Given the description of an element on the screen output the (x, y) to click on. 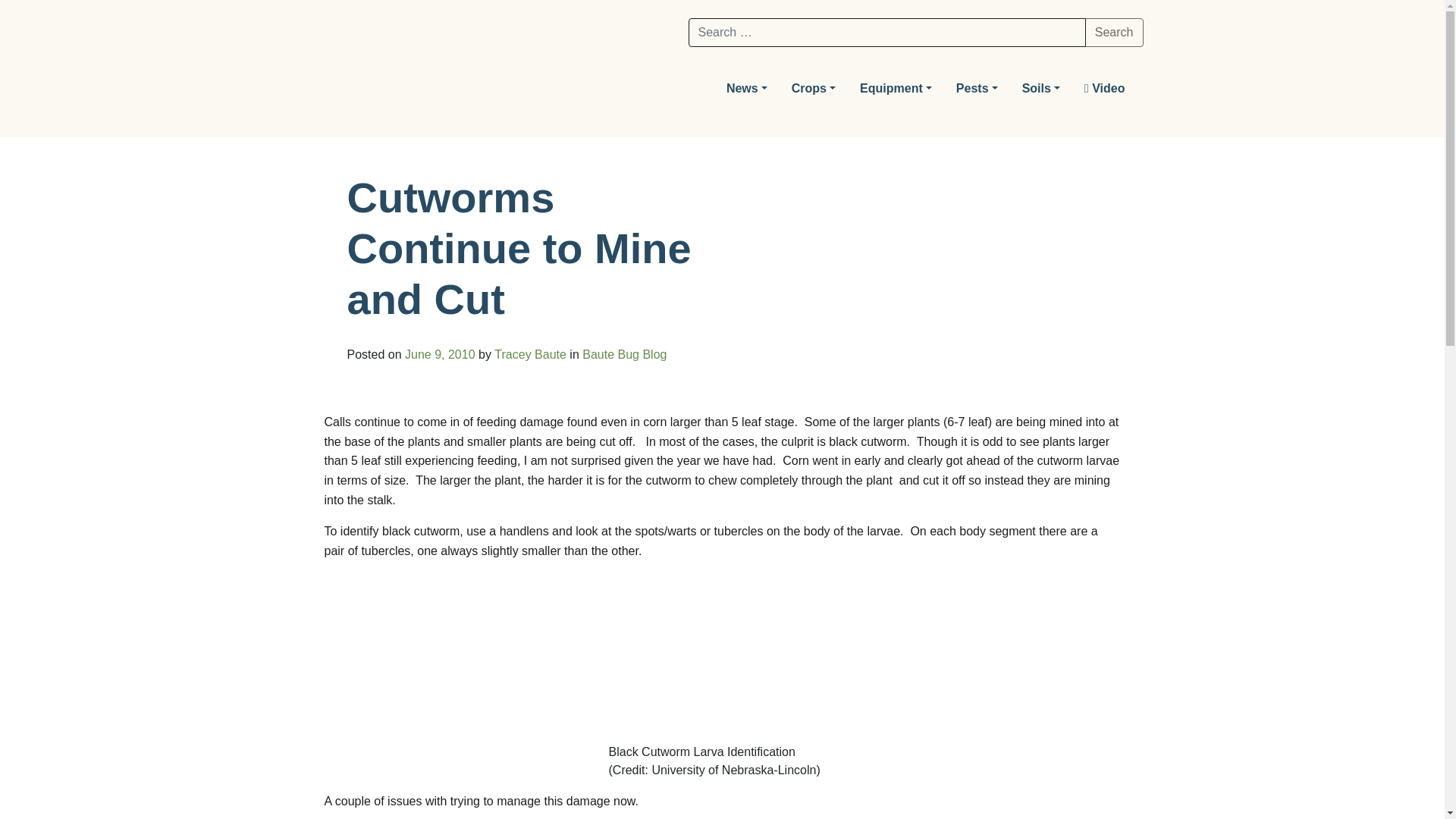
Baute Bug Blog (624, 354)
Pests (977, 88)
Video (1104, 88)
Soils (1040, 88)
Crops (813, 88)
News (746, 88)
Crops (813, 88)
Search (1113, 32)
Tracey Baute (530, 354)
Search (1113, 32)
